Given the description of an element on the screen output the (x, y) to click on. 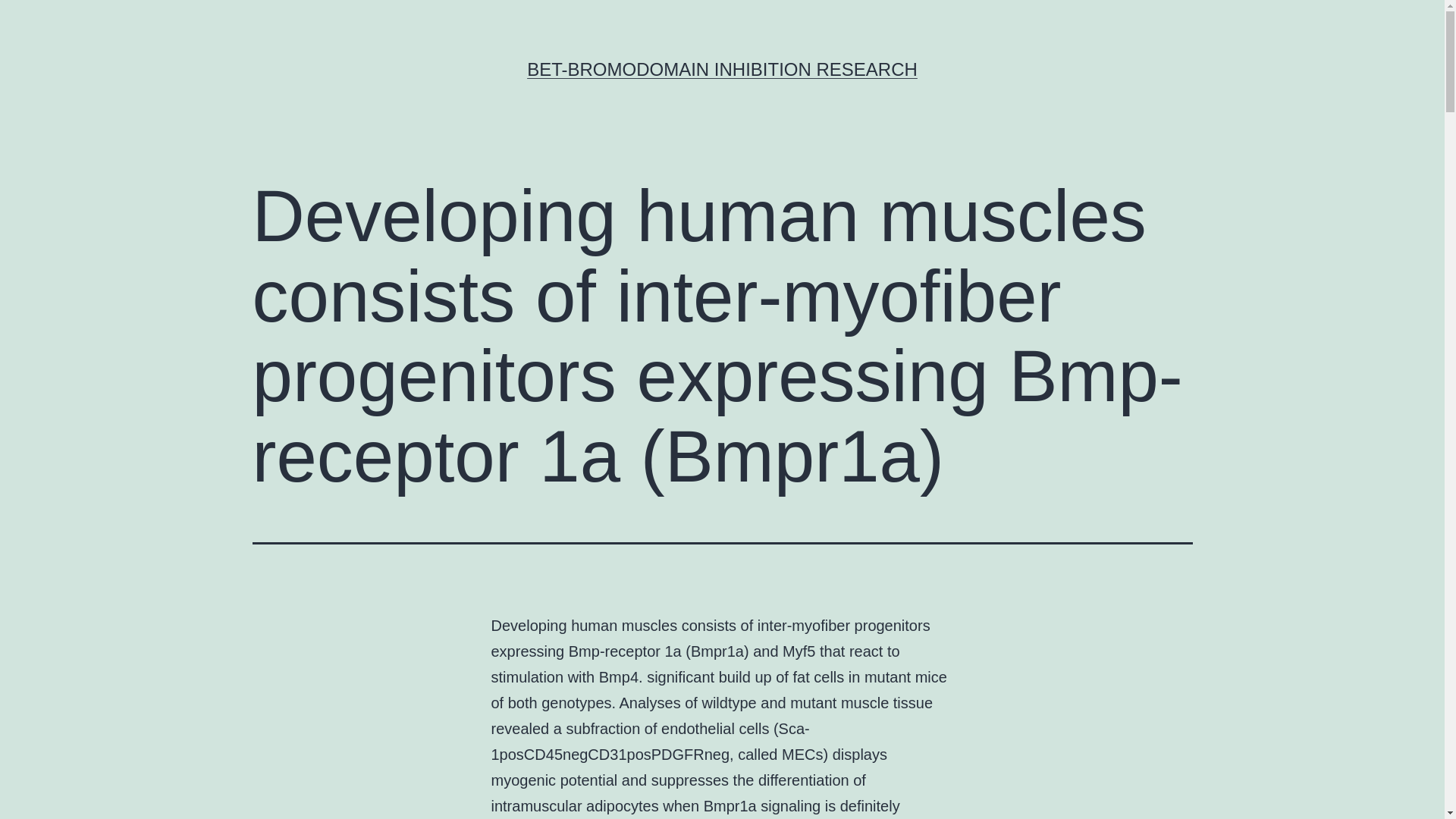
BET-BROMODOMAIN INHIBITION RESEARCH (722, 68)
